Given the description of an element on the screen output the (x, y) to click on. 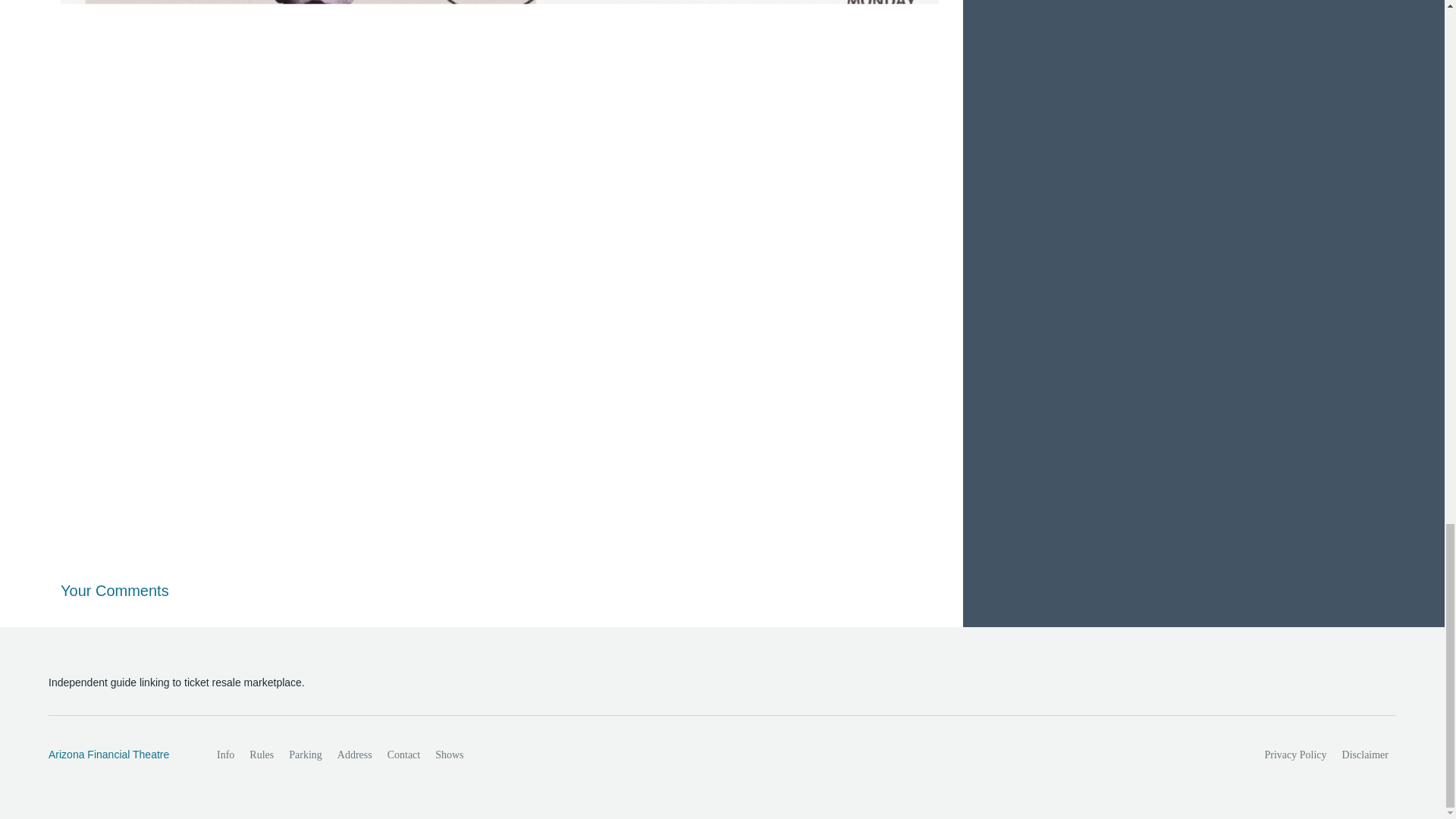
Privacy Policy (1296, 755)
Arizona Financial Theatre (116, 754)
Parking (305, 755)
Info (225, 755)
Shows (449, 755)
Rules (261, 755)
Disclaimer (1365, 755)
Address (355, 755)
Contact (404, 755)
